Given the description of an element on the screen output the (x, y) to click on. 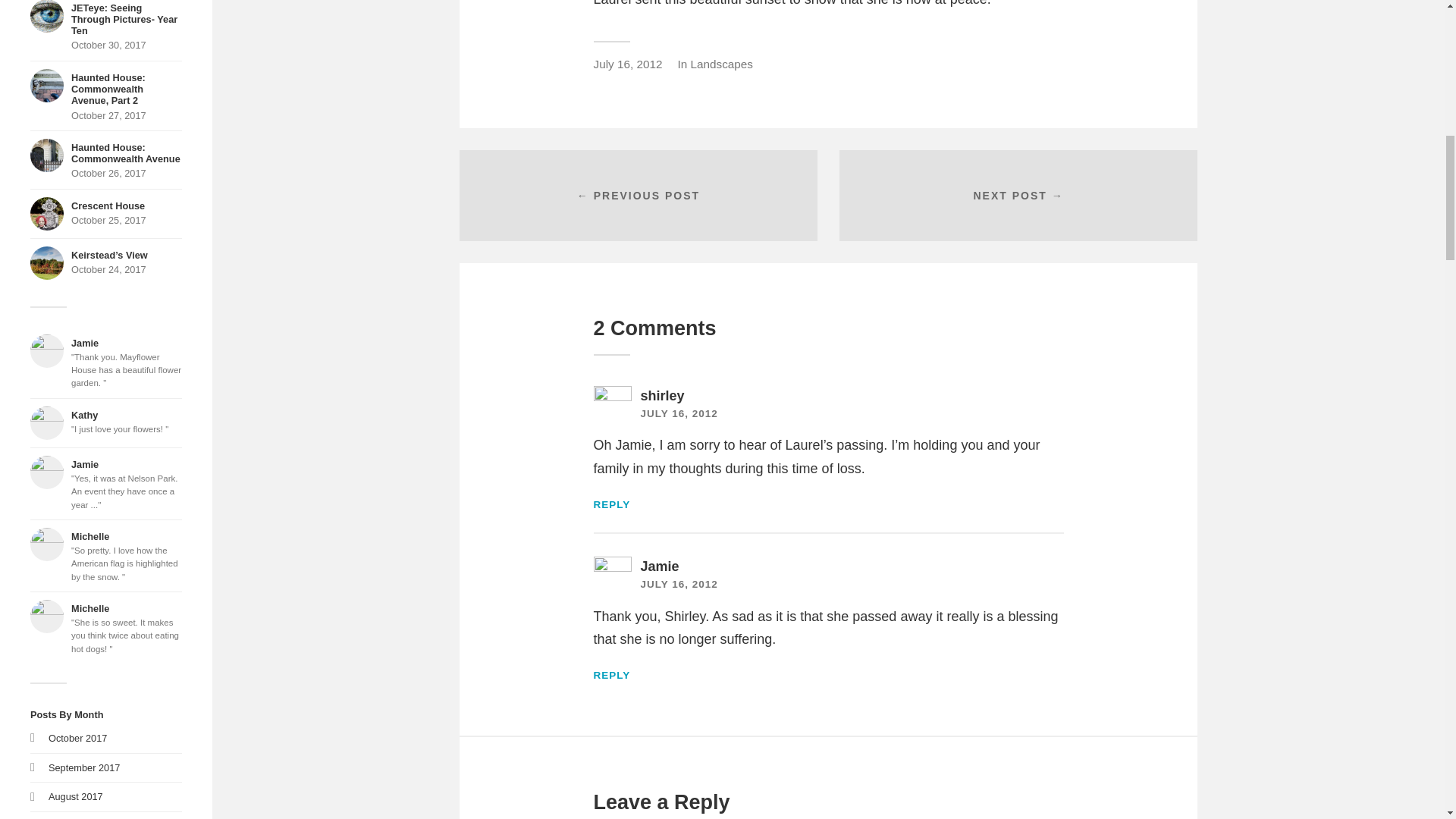
August 2017 (106, 422)
September 2017 (106, 26)
October 2017 (75, 796)
